Given the description of an element on the screen output the (x, y) to click on. 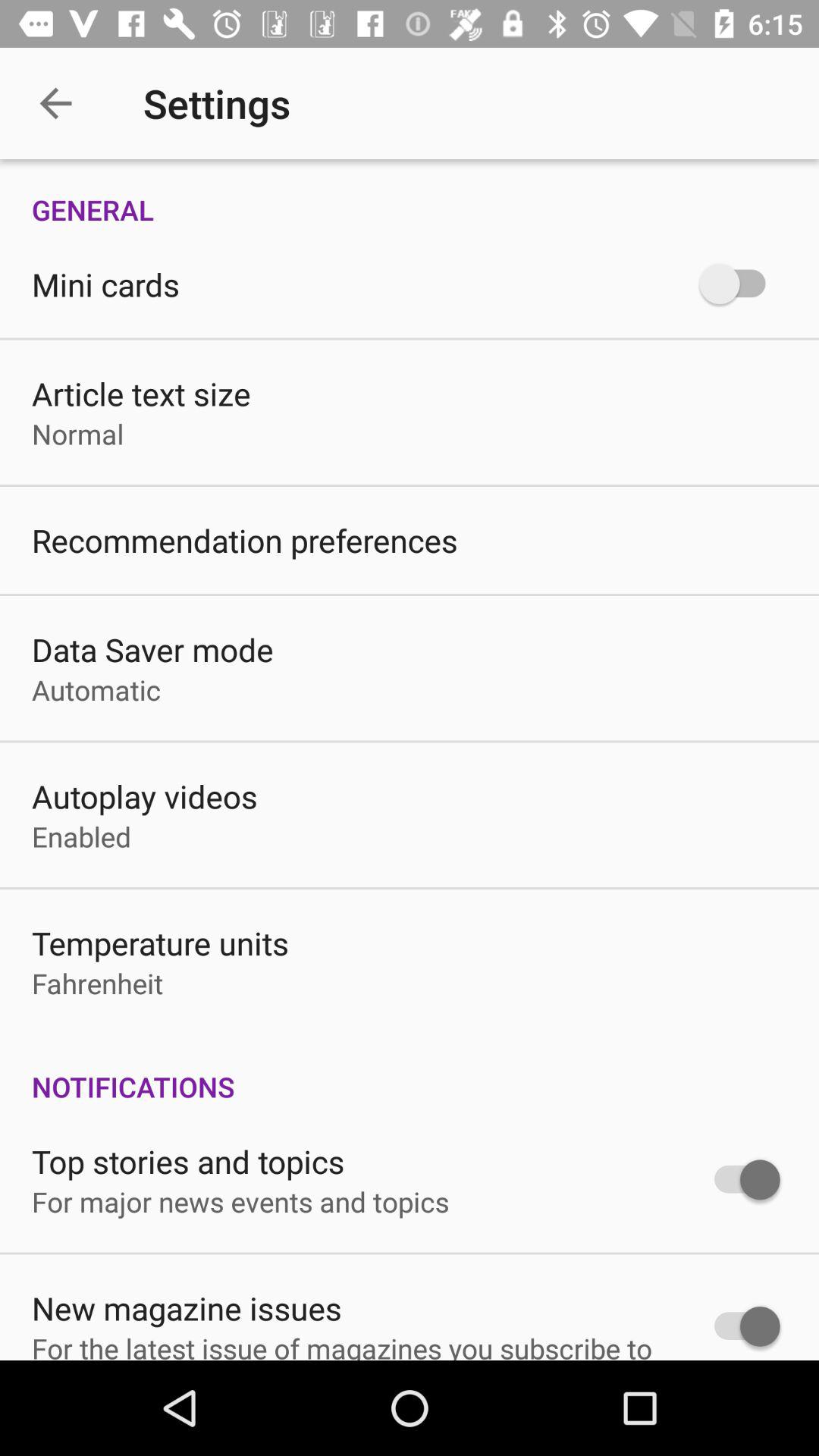
launch the automatic item (95, 689)
